Given the description of an element on the screen output the (x, y) to click on. 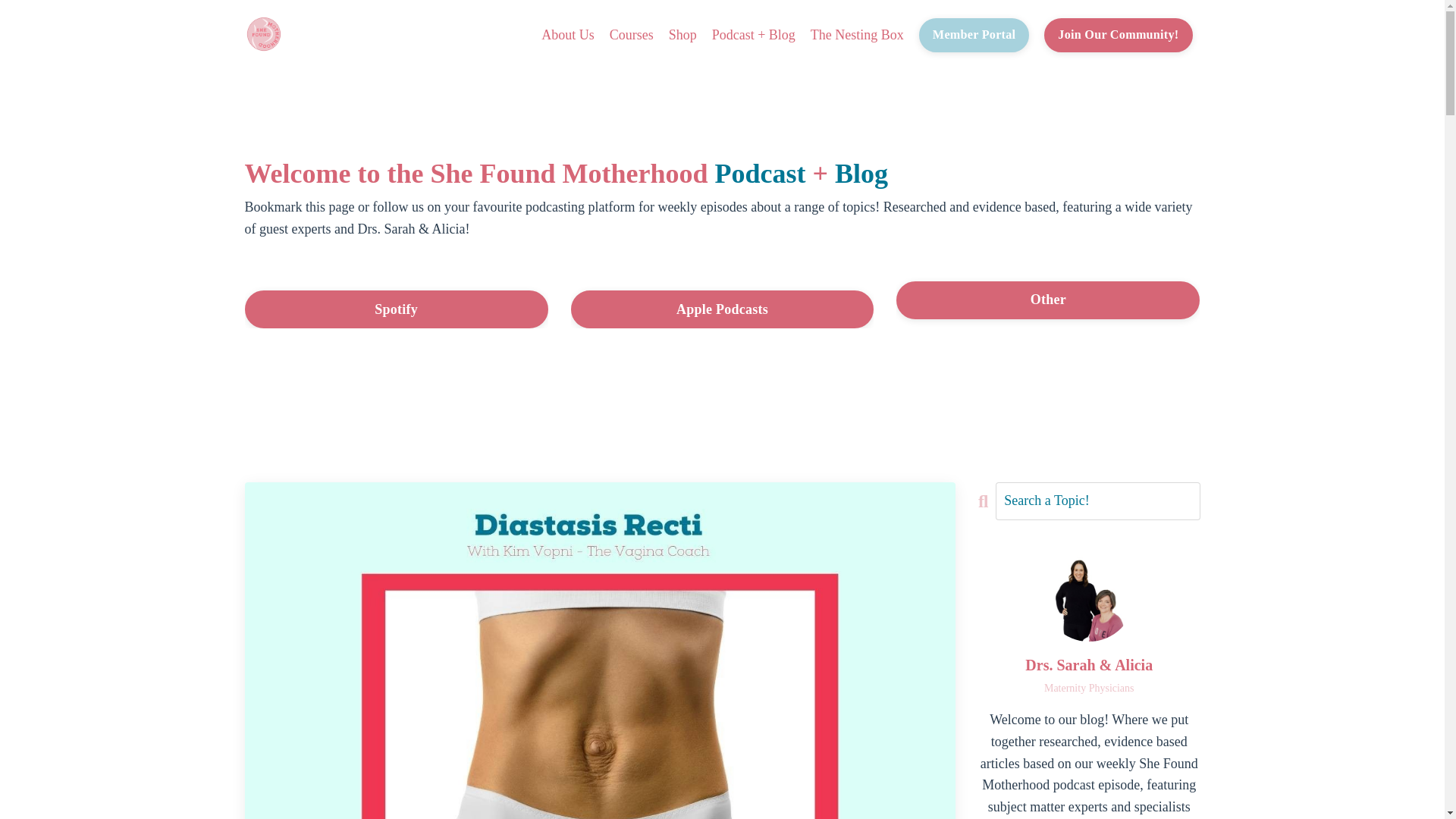
Member Portal (973, 34)
Shop (682, 34)
Join Our Community! (1117, 34)
About Us (567, 34)
Apple Podcasts (721, 309)
Courses (631, 34)
The Nesting Box (857, 34)
Spotify (396, 309)
Other (1047, 300)
